Given the description of an element on the screen output the (x, y) to click on. 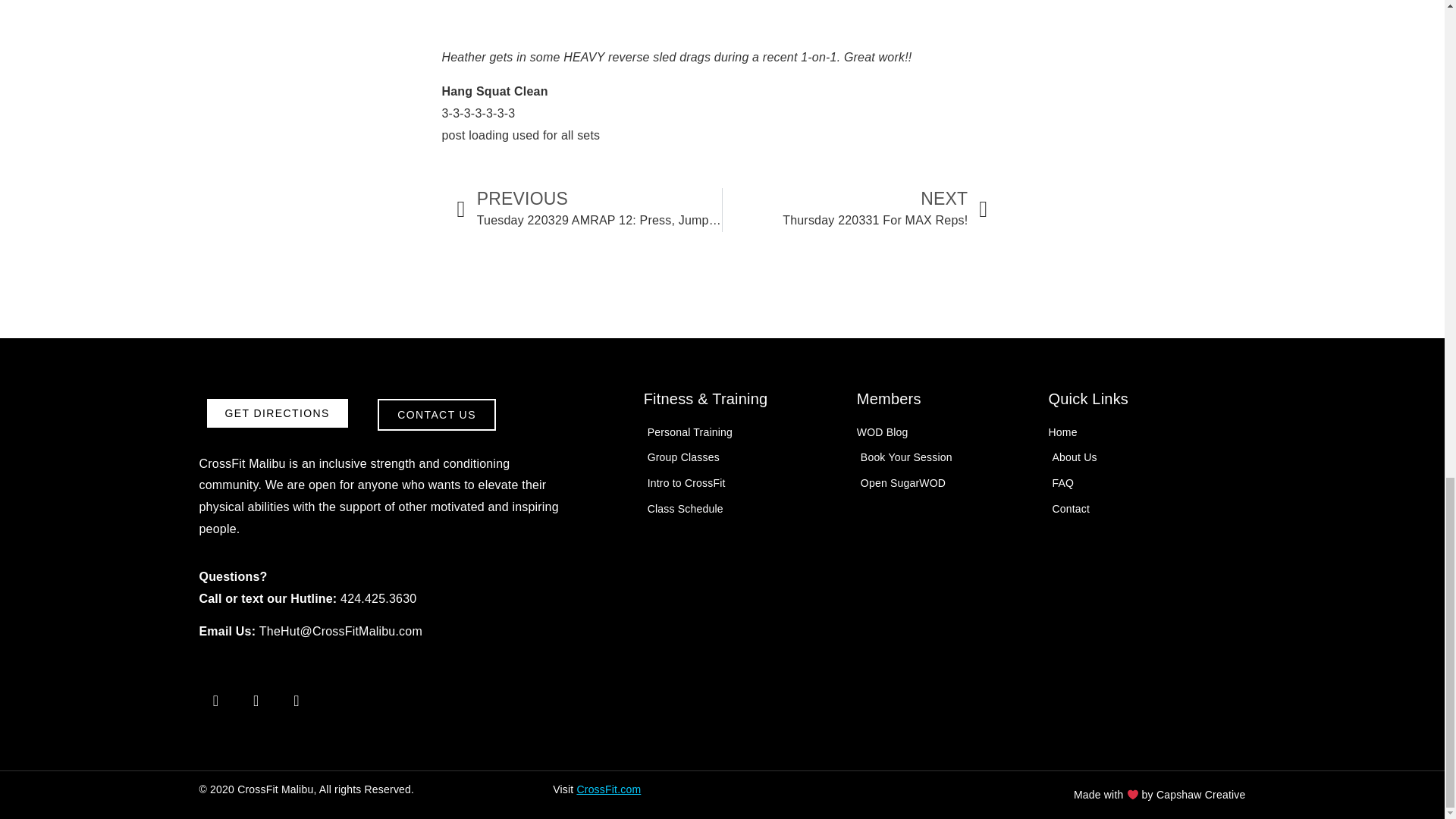
GET DIRECTIONS (589, 209)
Intro to CrossFit (276, 412)
Open SugarWOD (742, 483)
About Us (945, 483)
Class Schedule (1146, 457)
Group Classes (742, 508)
Contact (742, 457)
Personal Training (855, 209)
